Given the description of an element on the screen output the (x, y) to click on. 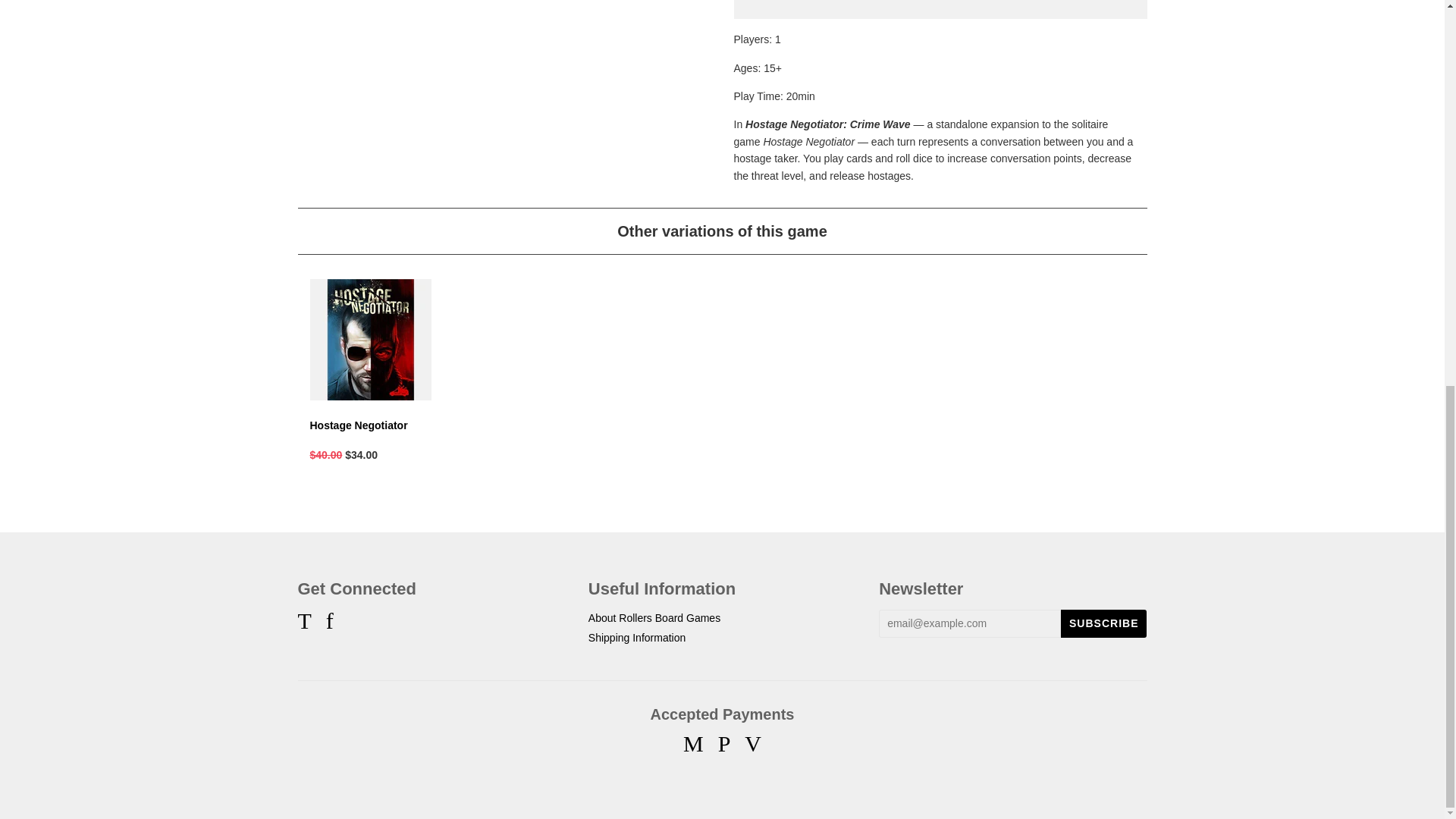
Rollers Board Games on Twitter (304, 624)
Subscribe (1104, 623)
